Given the description of an element on the screen output the (x, y) to click on. 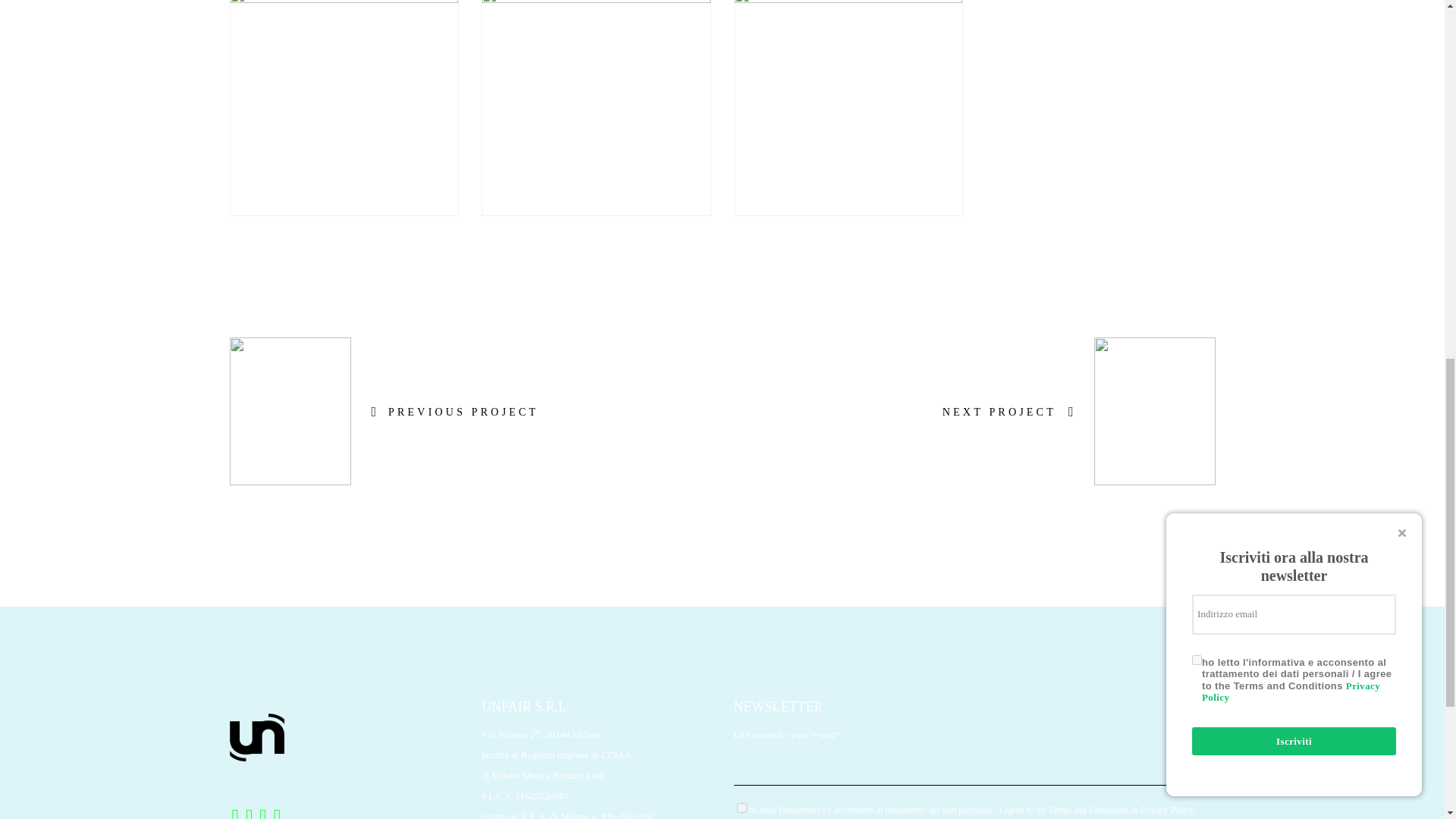
GALLERIA FERRERO ARTE CONTEMPORANEA (344, 108)
IL FERRO DA STIRO (847, 108)
on (741, 808)
